Given the description of an element on the screen output the (x, y) to click on. 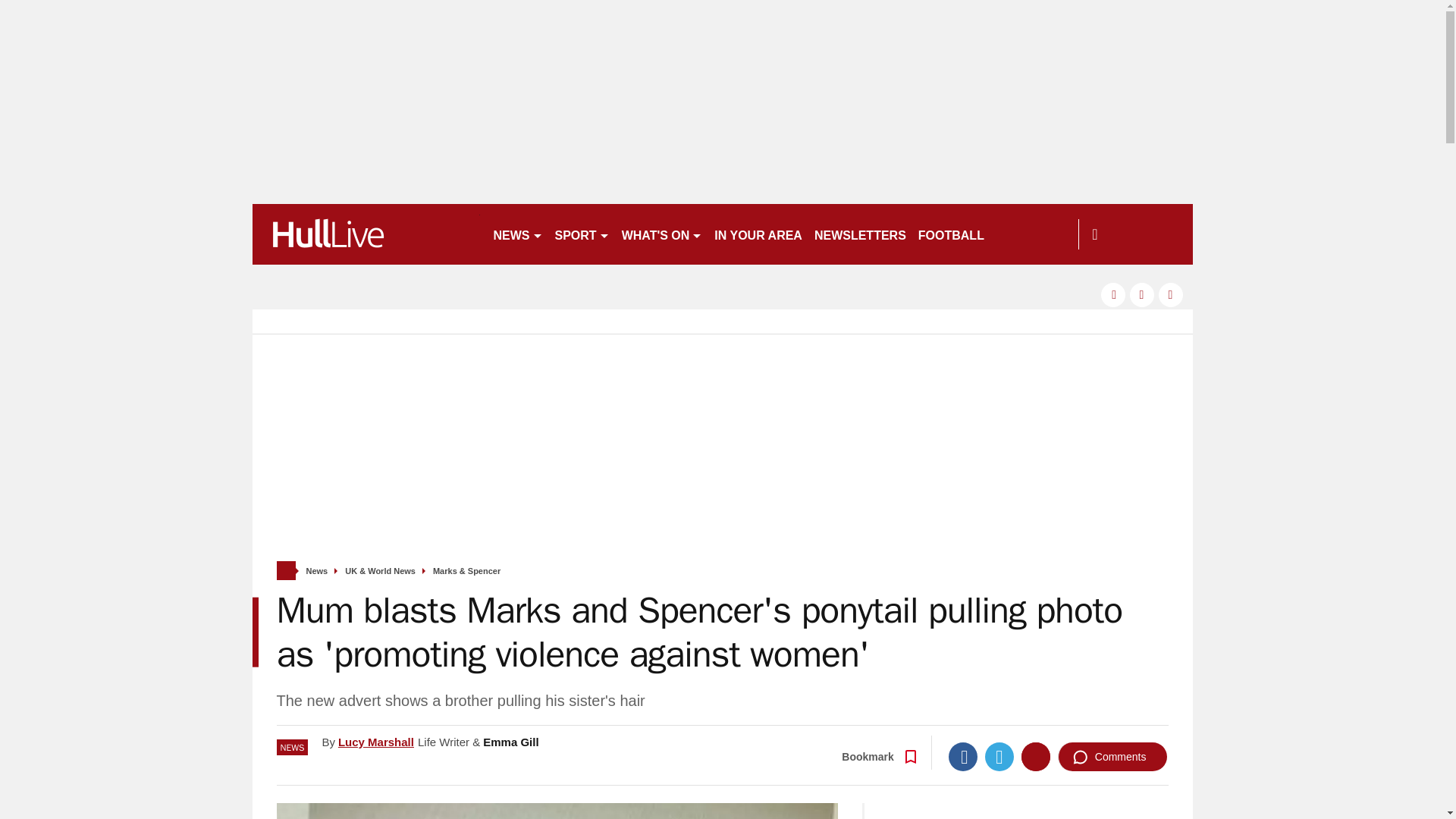
facebook (1112, 294)
NEWS (517, 233)
hulldailymail (365, 233)
Twitter (999, 756)
Facebook (962, 756)
WHAT'S ON (662, 233)
SPORT (581, 233)
FOOTBALL (951, 233)
Comments (1112, 756)
IN YOUR AREA (757, 233)
